Given the description of an element on the screen output the (x, y) to click on. 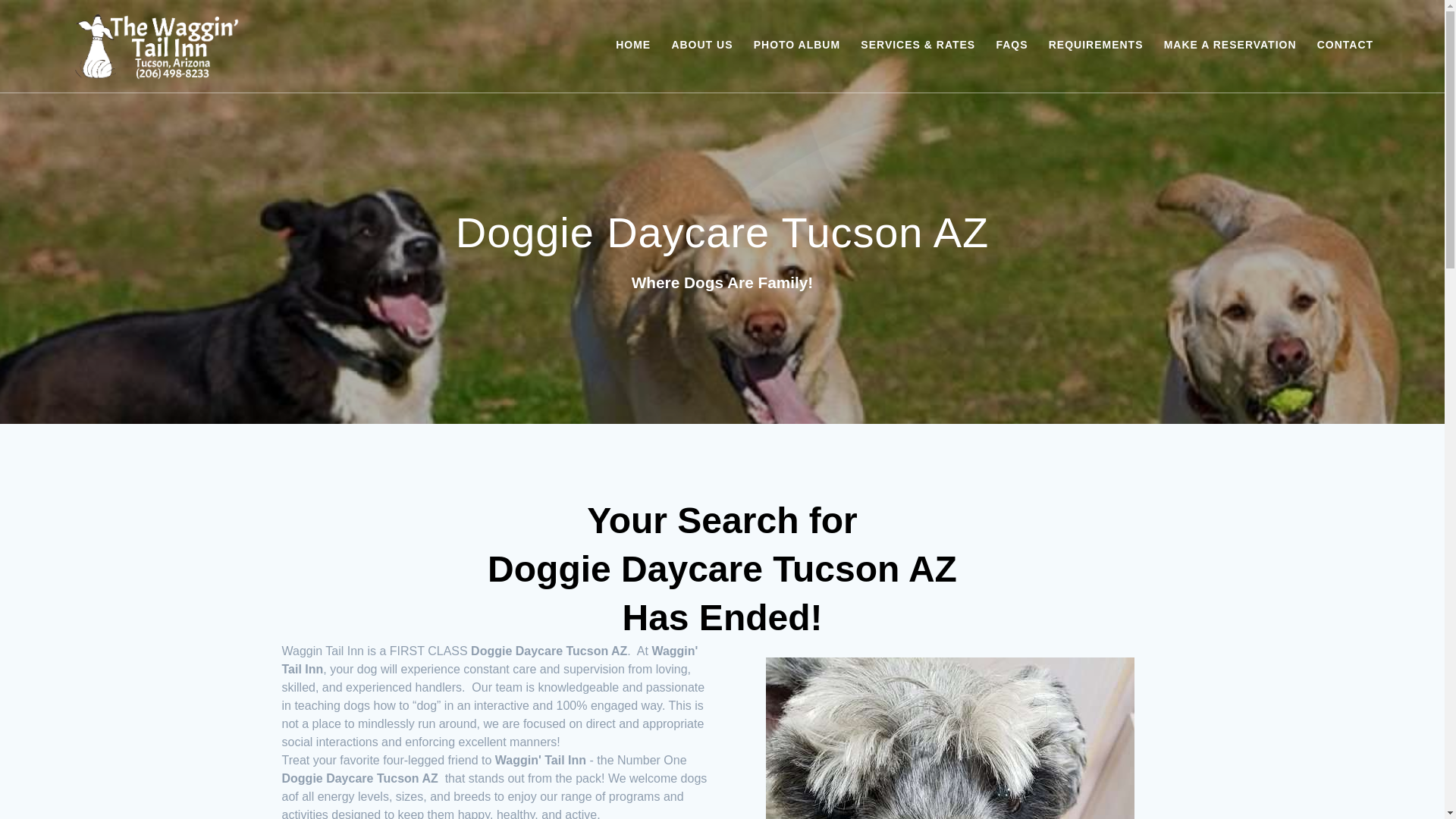
Doggie Daycare Tucson AZ (949, 738)
FAQS (1011, 45)
MAKE A RESERVATION (1230, 45)
CONTACT (1345, 45)
HOME (632, 45)
REQUIREMENTS (1095, 45)
PHOTO ALBUM (797, 45)
ABOUT US (701, 45)
